Given the description of an element on the screen output the (x, y) to click on. 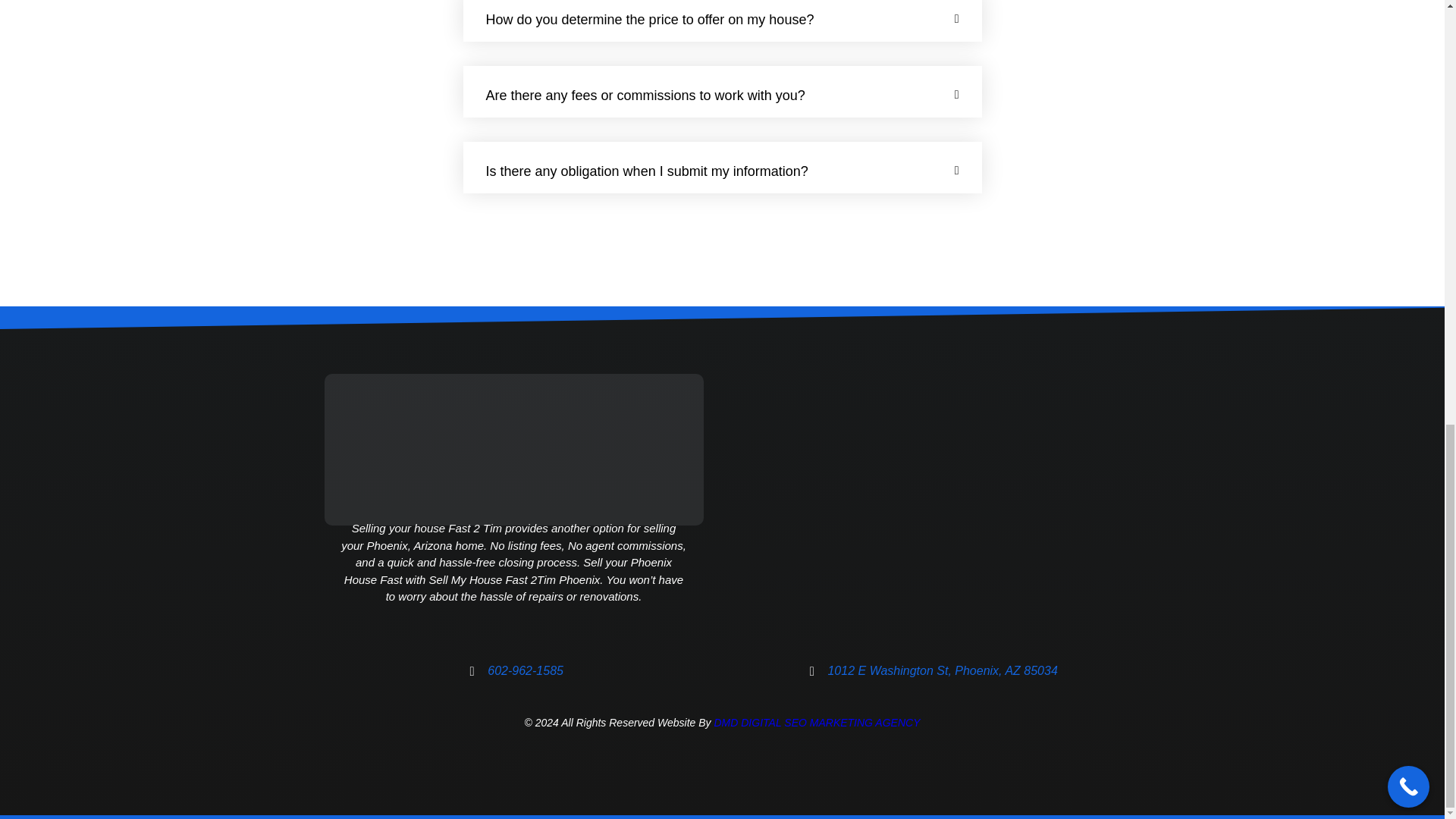
How do you determine the price to offer on my house? (648, 19)
DMD DIGITAL SEO MARKETING AGENCY (816, 722)
Are there any fees or commissions to work with you? (644, 95)
Is there any obligation when I submit my information? (646, 171)
Sell My House To Tim Phoenix (920, 504)
